Given the description of an element on the screen output the (x, y) to click on. 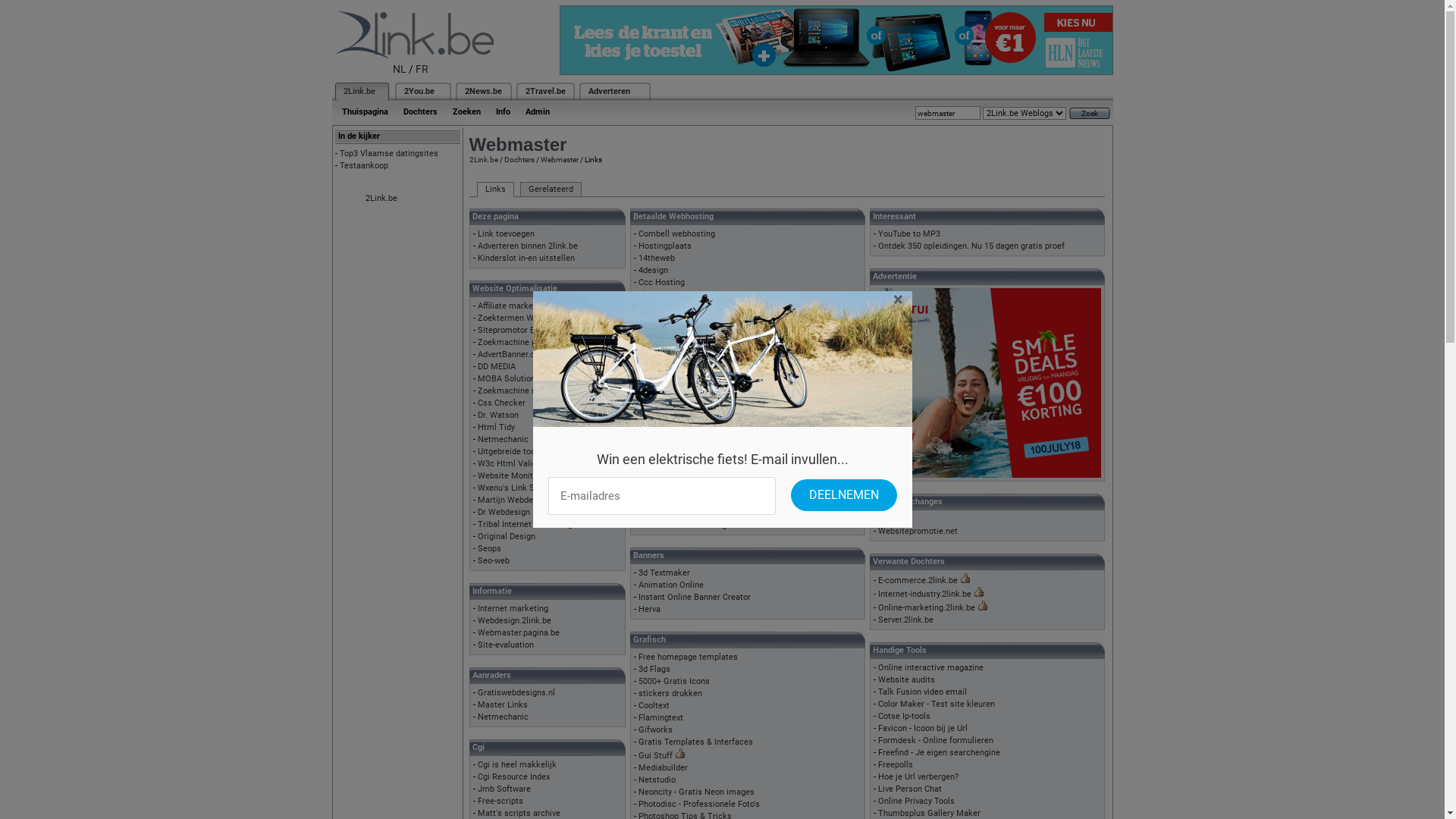
Site2host Element type: text (656, 428)
Testaankoop Element type: text (363, 165)
E-commerce.2link.be Element type: text (917, 580)
Zoeken Element type: text (465, 111)
web hosting Element type: text (661, 440)
Hosting-it Element type: text (656, 330)
Dochters Element type: text (420, 111)
MOBA Solutions Internet Marketing Element type: text (544, 378)
Websitepromotie.net Element type: text (917, 531)
Bpath Element type: text (889, 519)
2News.be Element type: text (482, 91)
Freefind - Je eigen searchengine Element type: text (939, 752)
2Link.be Element type: text (482, 159)
Combell webhosting Element type: text (676, 233)
Hoe je Url verbergen? Element type: text (918, 776)
NL Element type: text (399, 68)
YouTube to MP3 Element type: text (909, 233)
Css Checker Element type: text (501, 402)
Martijn Webdesign Element type: text (513, 500)
2Travel.be Element type: text (544, 91)
Html Tidy Element type: text (495, 427)
Top3 Vlaamse datingsites Element type: text (388, 153)
Gerelateerd Element type: text (550, 189)
Rackboost.com Element type: text (667, 403)
3d Flags Element type: text (654, 669)
Zoekmachine marketing advies Element type: text (536, 390)
3d Textmaker Element type: text (664, 572)
Netmechanic Element type: text (502, 716)
Netstudio Element type: text (656, 779)
2Link.be Element type: text (381, 198)
Kinderslot in-en uitstellen Element type: text (525, 258)
Link toevoegen Element type: text (505, 233)
Site-evaluation Element type: text (505, 644)
Color Maker - Test site kleuren Element type: text (936, 704)
Website audits Element type: text (906, 679)
Internet marketing Element type: text (512, 608)
Seo-web Element type: text (493, 560)
Herva Element type: text (649, 609)
Server.2link.be Element type: text (905, 619)
Matt's scripts archive Element type: text (518, 813)
Webxpressions Element type: text (667, 500)
Ontdek 350 opleidingen. Nu 15 dagen gratis proef Element type: text (971, 246)
2Link.be Element type: text (358, 91)
Live Person Chat Element type: text (909, 788)
stickers drukken Element type: text (670, 693)
Animation Online Element type: text (670, 584)
2You.be Element type: text (418, 91)
W3c Html Validation Service Element type: text (531, 463)
Adverteren binnen 2link.be Element type: text (527, 246)
Zoekmachine positionering Element type: text (528, 342)
Flamingtext Element type: text (660, 717)
Internet Service Laarbeek Element type: text (686, 343)
4design Element type: text (653, 270)
Dr Webdesign Element type: text (503, 512)
Lientje.com Element type: text (660, 367)
Jmb Software Element type: text (503, 788)
Gratis Templates & Interfaces Element type: text (695, 741)
Zoek Element type: text (1089, 113)
Instant Online Banner Creator Element type: text (694, 597)
Ccc Hosting Element type: text (661, 282)
Affiliate marketing Element type: text (512, 305)
Mach-it Europe Element type: text (666, 379)
Wxenu's Link Sleuth Element type: text (515, 487)
Zoektermen Webmarketing Element type: text (529, 318)
Freepolls Element type: text (895, 764)
Info Element type: text (502, 111)
Sitepromotor E-marketing Element type: text (526, 330)
Cotse Ip-tools Element type: text (904, 716)
Lcl Colocation Element type: text (665, 355)
Free homepage templates Element type: text (687, 657)
Cooltext Element type: text (653, 705)
Netmechanic Element type: text (502, 439)
Webmaster Element type: text (558, 159)
Webhosting en domeinregistratie. Element type: text (702, 476)
Links Element type: text (494, 189)
Original Design Element type: text (506, 536)
Clear Hosting Element type: text (664, 294)
Webmaster.pagina.be Element type: text (518, 632)
Goedkope server hosting Element type: text (685, 415)
Cgi Resource Index Element type: text (513, 776)
Seops Element type: text (489, 548)
Talk Fusion video email Element type: text (922, 691)
DD MEDIA Element type: text (496, 366)
Business server Element type: text (668, 318)
14theweb Element type: text (656, 258)
Thuispagina Element type: text (364, 111)
Photodisc - Professionele Foto's Element type: text (698, 804)
Favicon - Icoon bij je Url Element type: text (922, 728)
eFactornet Webhosting Element type: text (682, 525)
Sol-it Webdesign & Hosting Element type: text (689, 452)
Whirlwind.be Element type: text (662, 512)
Formdesk - Online formulieren Element type: text (935, 740)
5000+ Gratis Icons Element type: text (673, 681)
Cgi is heel makkelijk Element type: text (516, 764)
Adverteren Element type: text (609, 91)
Neoncity - Gratis Neon images Element type: text (696, 792)
Thumbsplus Gallery Maker Element type: text (929, 813)
Webhosting Tips Element type: text (670, 464)
Dochters Element type: text (518, 159)
Gui Stuff Element type: text (655, 755)
AdvertBanner.com Element type: text (511, 354)
Gratiswebdesigns.nl Element type: text (516, 692)
Gifworks Element type: text (655, 729)
Mijnwebserver Element type: text (665, 391)
Online-marketing.2link.be Element type: text (926, 607)
Free-scripts Element type: text (500, 801)
Dr. Watson Element type: text (497, 415)
Admin Element type: text (536, 111)
Internet-industry.2link.be Element type: text (924, 594)
Website Monitoring Element type: text (514, 475)
Mediabuilder Element type: text (662, 767)
Tribal Internet Marketing Element type: text (524, 524)
Uitgebreide tools lijst Element type: text (517, 451)
FR Element type: text (421, 68)
Hostingplaats Element type: text (664, 246)
Online Privacy Tools Element type: text (916, 801)
Online interactive magazine Element type: text (930, 667)
Doemee Hosting Element type: text (669, 306)
Webdesign.2link.be Element type: text (514, 620)
Master Links Element type: text (502, 704)
Webhosting.2link Element type: text (681, 488)
